Given the description of an element on the screen output the (x, y) to click on. 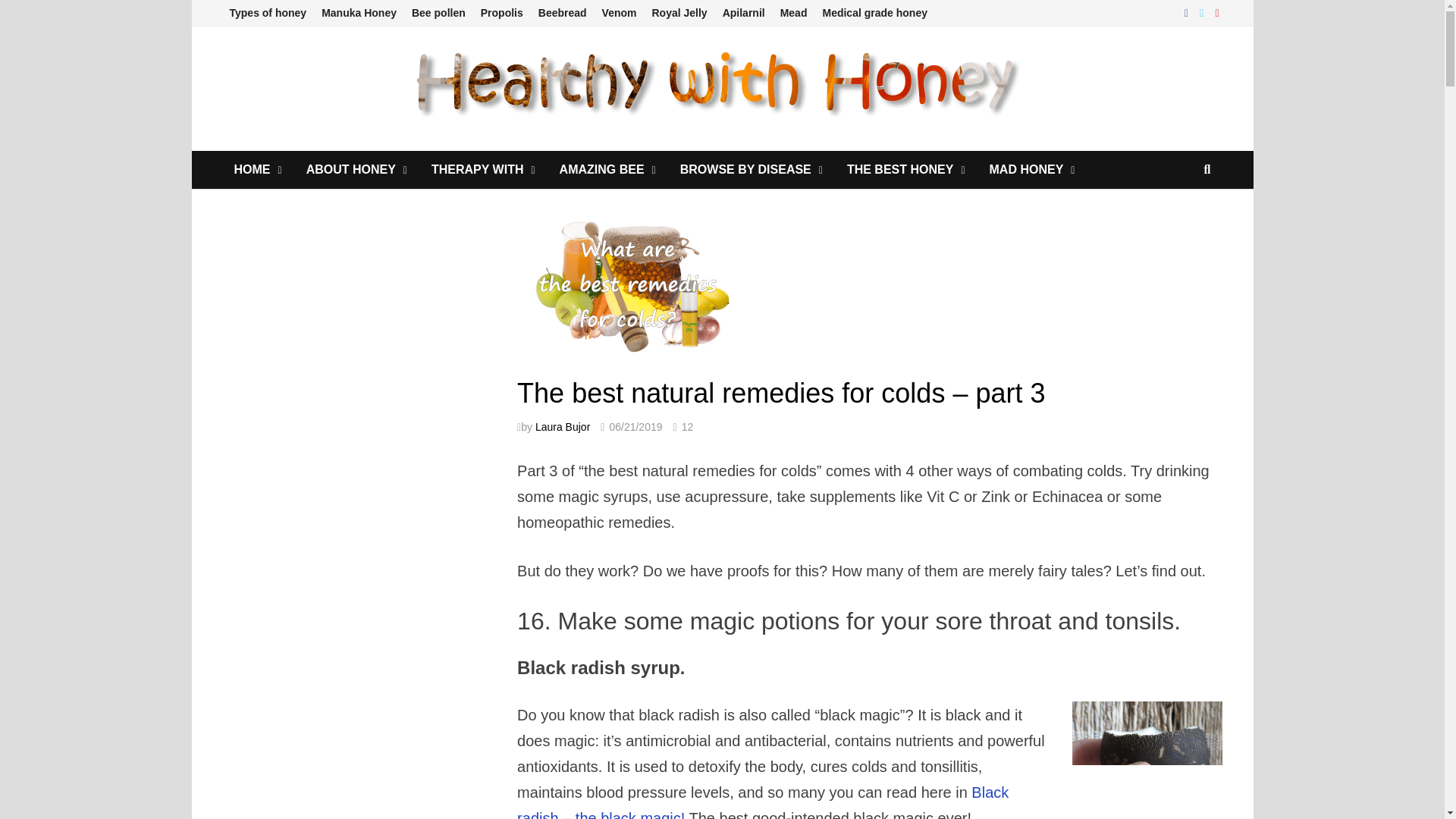
ABOUT HONEY (356, 169)
Types of honey (267, 13)
Beebread (562, 13)
Bee pollen (438, 13)
Mead (794, 13)
Venom (619, 13)
Propolis (502, 13)
Apilarnil (743, 13)
Manuka Honey (359, 13)
HOME (257, 169)
